Given the description of an element on the screen output the (x, y) to click on. 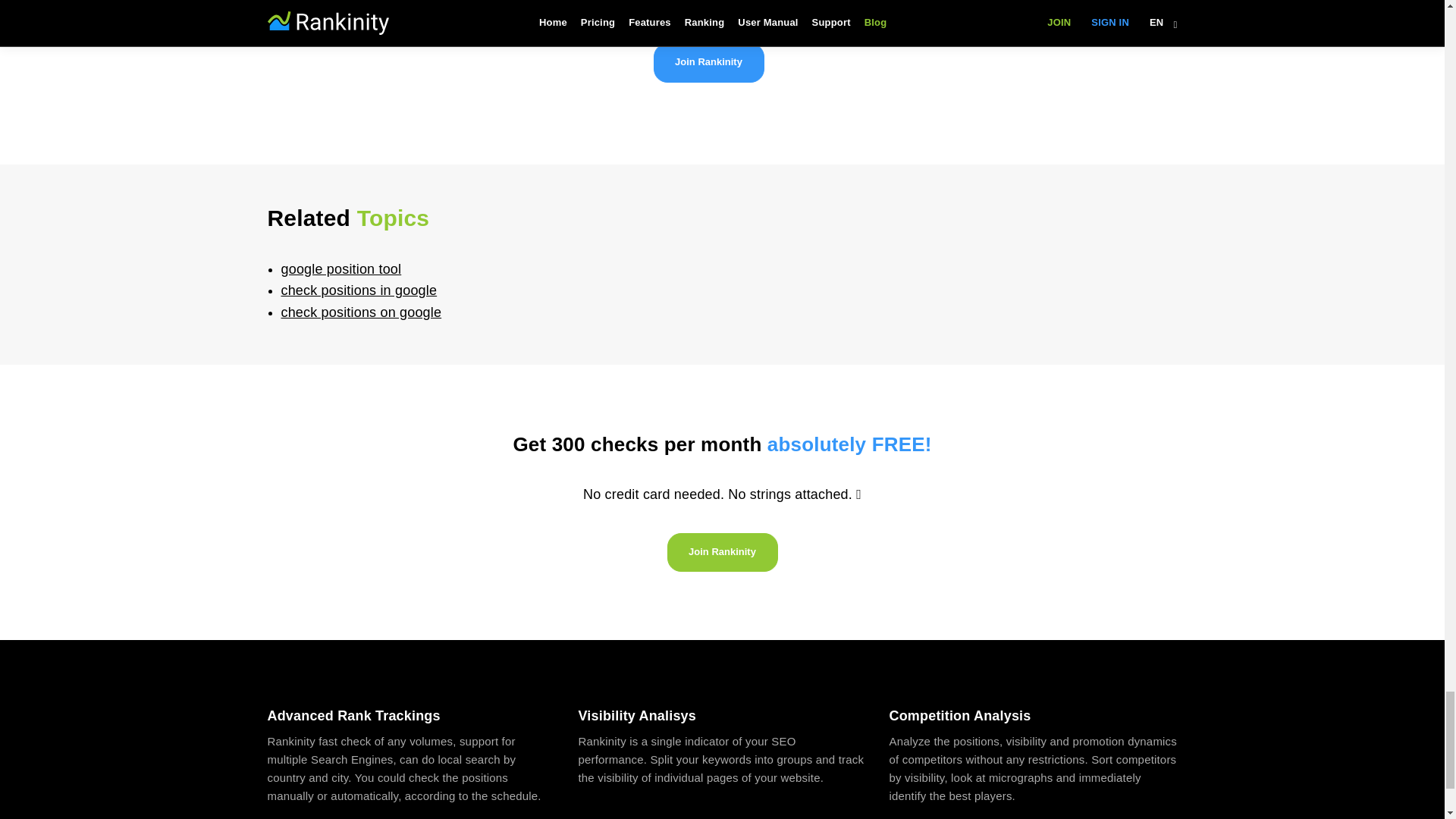
Join Rankinity (708, 62)
check positions on google (361, 312)
google position tool (341, 268)
Join Rankinity (721, 552)
check positions in google (358, 290)
